Given the description of an element on the screen output the (x, y) to click on. 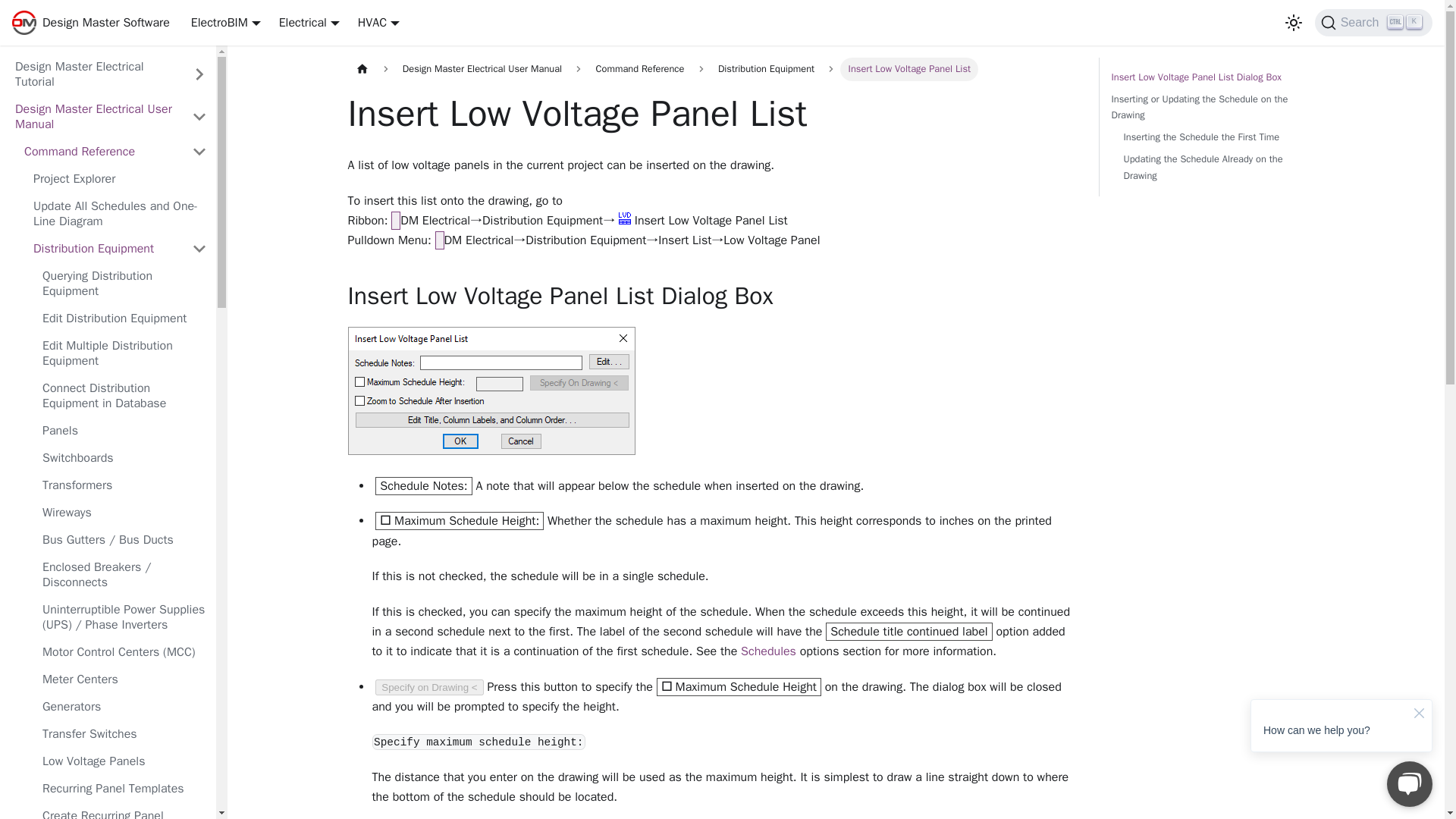
Edit Distribution Equipment (124, 318)
Distribution Equipment (1373, 22)
Electrical (103, 248)
Edit Multiple Distribution Equipment (309, 22)
Switchboards (124, 353)
Project Explorer (124, 457)
Wireways (119, 178)
Update All Schedules and One-Line Diagram (124, 512)
Command Reference (119, 213)
Transformers (98, 151)
Design Master Electrical Tutorial (124, 485)
Panels (94, 74)
Querying Distribution Equipment (124, 430)
HVAC (124, 283)
